Given the description of an element on the screen output the (x, y) to click on. 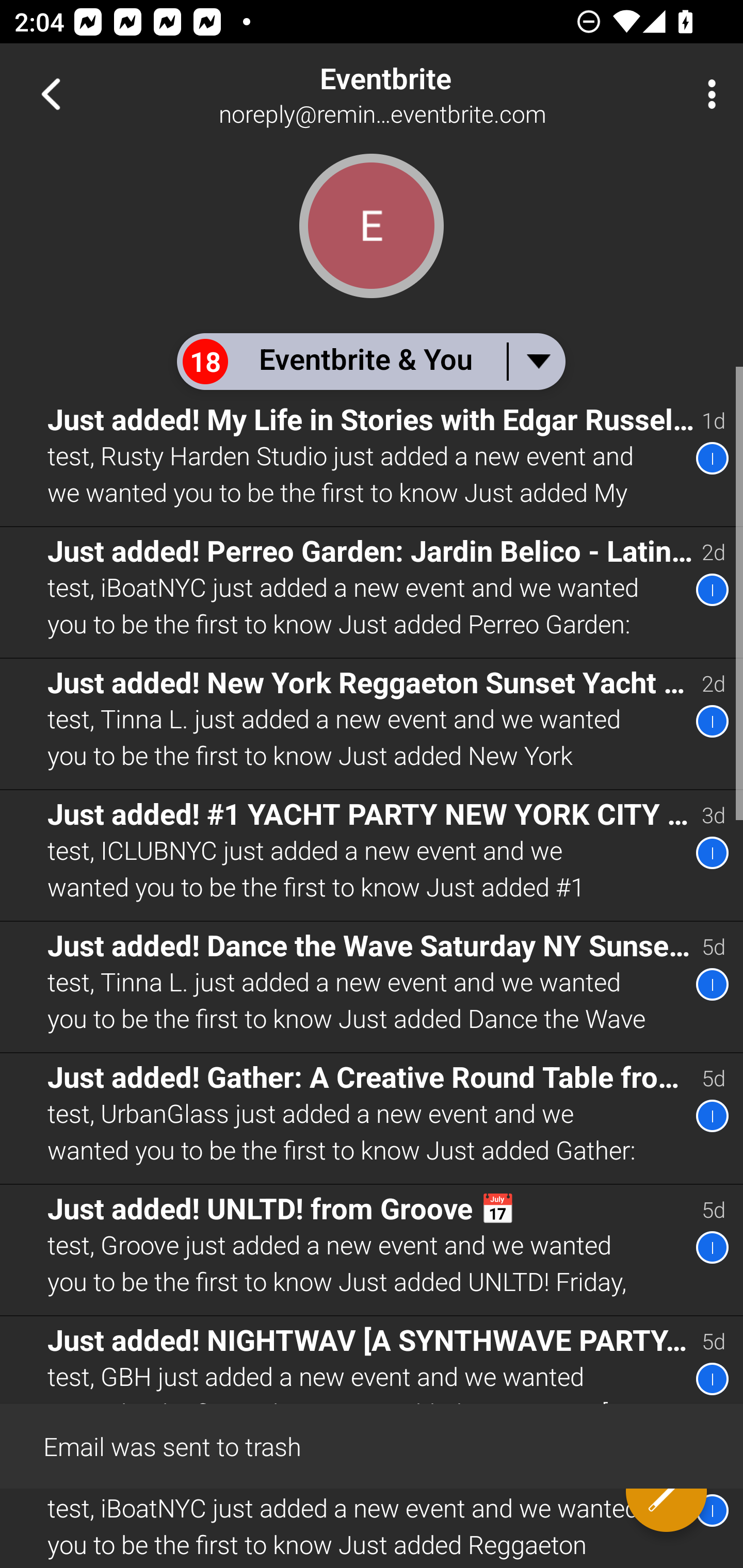
Navigate up (50, 93)
Eventbrite noreply@reminder.eventbrite.com (436, 93)
More Options (706, 93)
18 Eventbrite & You (370, 361)
Email was sent to trash (371, 1445)
